Given the description of an element on the screen output the (x, y) to click on. 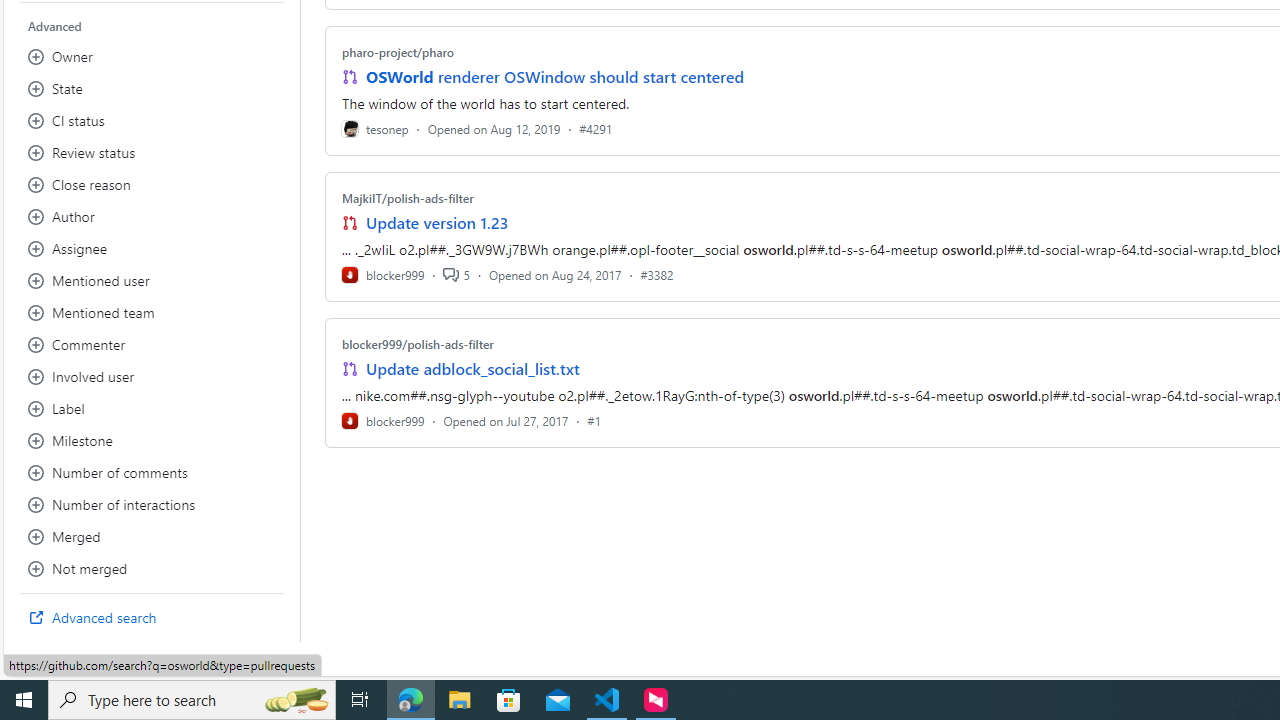
Update adblock_social_list.txt (472, 368)
#1 (594, 420)
Advanced search (152, 617)
#1 (594, 420)
